Given the description of an element on the screen output the (x, y) to click on. 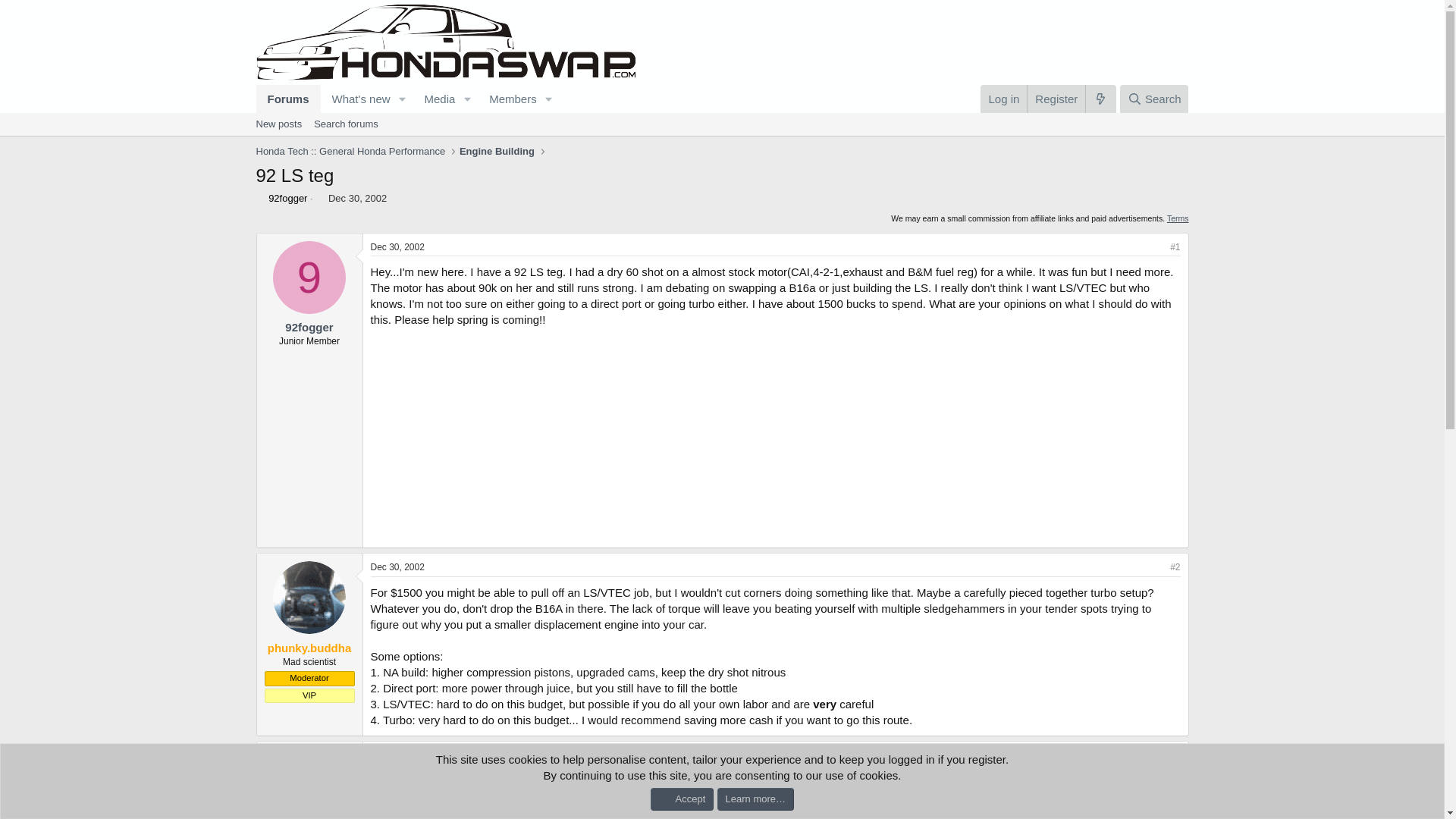
Honda Tech :: General Honda Performance (349, 151)
What's new (355, 99)
Dec 30, 2002 at 3:15 PM (358, 197)
Dec 30, 2002 at 4:03 PM (396, 566)
Media (434, 99)
Dec 30, 2002 (358, 197)
Log in (1002, 99)
Engine Building (496, 151)
New posts (407, 116)
Search (279, 124)
Forums (1153, 99)
Search forums (288, 99)
92fogger (345, 124)
